Given the description of an element on the screen output the (x, y) to click on. 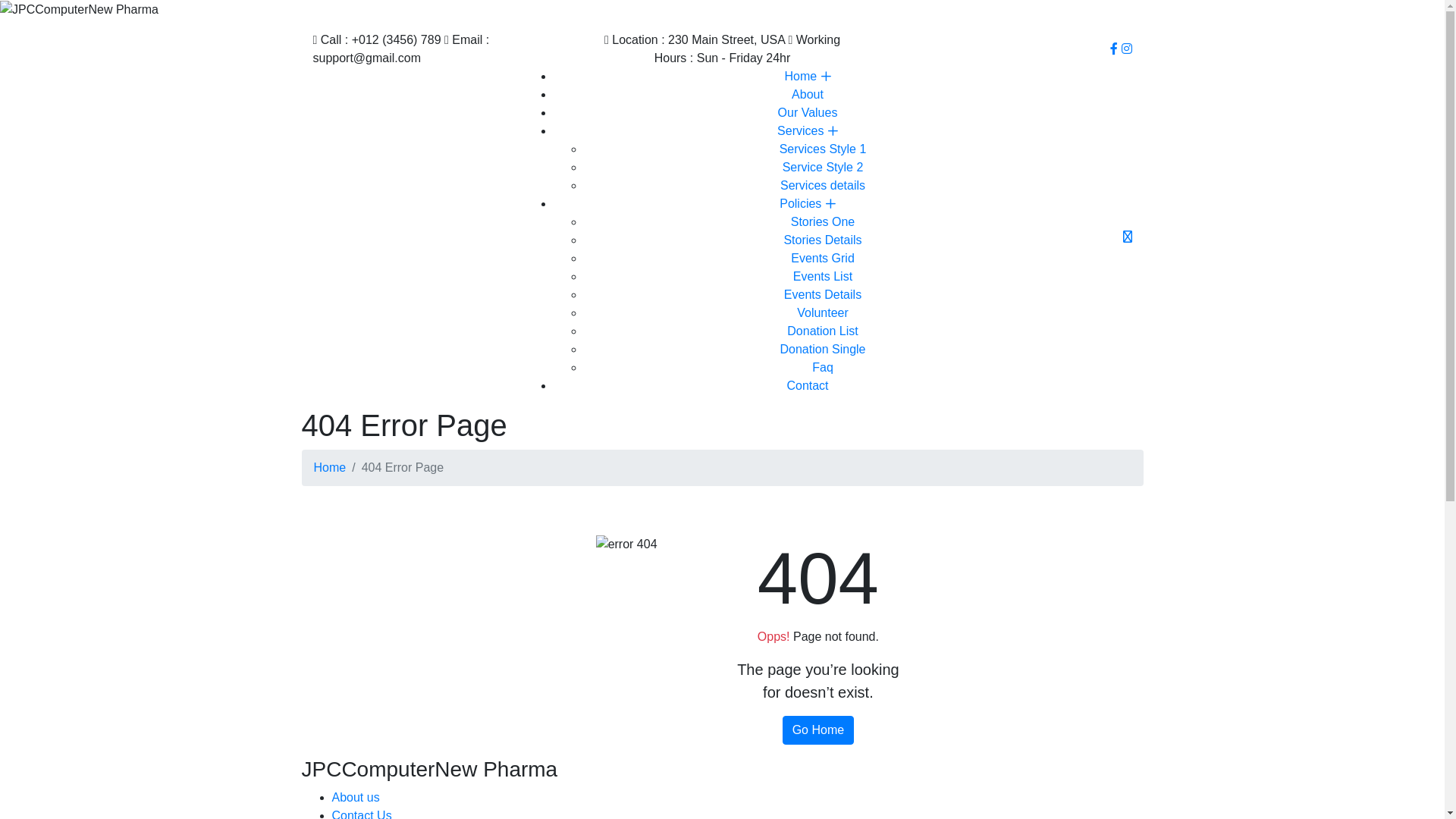
Home Element type: text (807, 75)
About us Element type: text (355, 796)
Stories One Element type: text (822, 221)
Volunteer Element type: text (822, 312)
Service Style 2 Element type: text (822, 166)
Faq Element type: text (822, 366)
Policies Element type: text (807, 203)
Events List Element type: text (822, 275)
Services details Element type: text (822, 184)
Events Details Element type: text (822, 294)
Go Home Element type: text (817, 729)
Donation Single Element type: text (823, 348)
Events Grid Element type: text (822, 257)
Contact Element type: text (807, 385)
Services Element type: text (807, 130)
About Element type: text (807, 93)
Stories Details Element type: text (822, 239)
Donation List Element type: text (822, 330)
Services Style 1 Element type: text (822, 148)
Home Element type: text (329, 467)
Our Values Element type: text (807, 112)
